Given the description of an element on the screen output the (x, y) to click on. 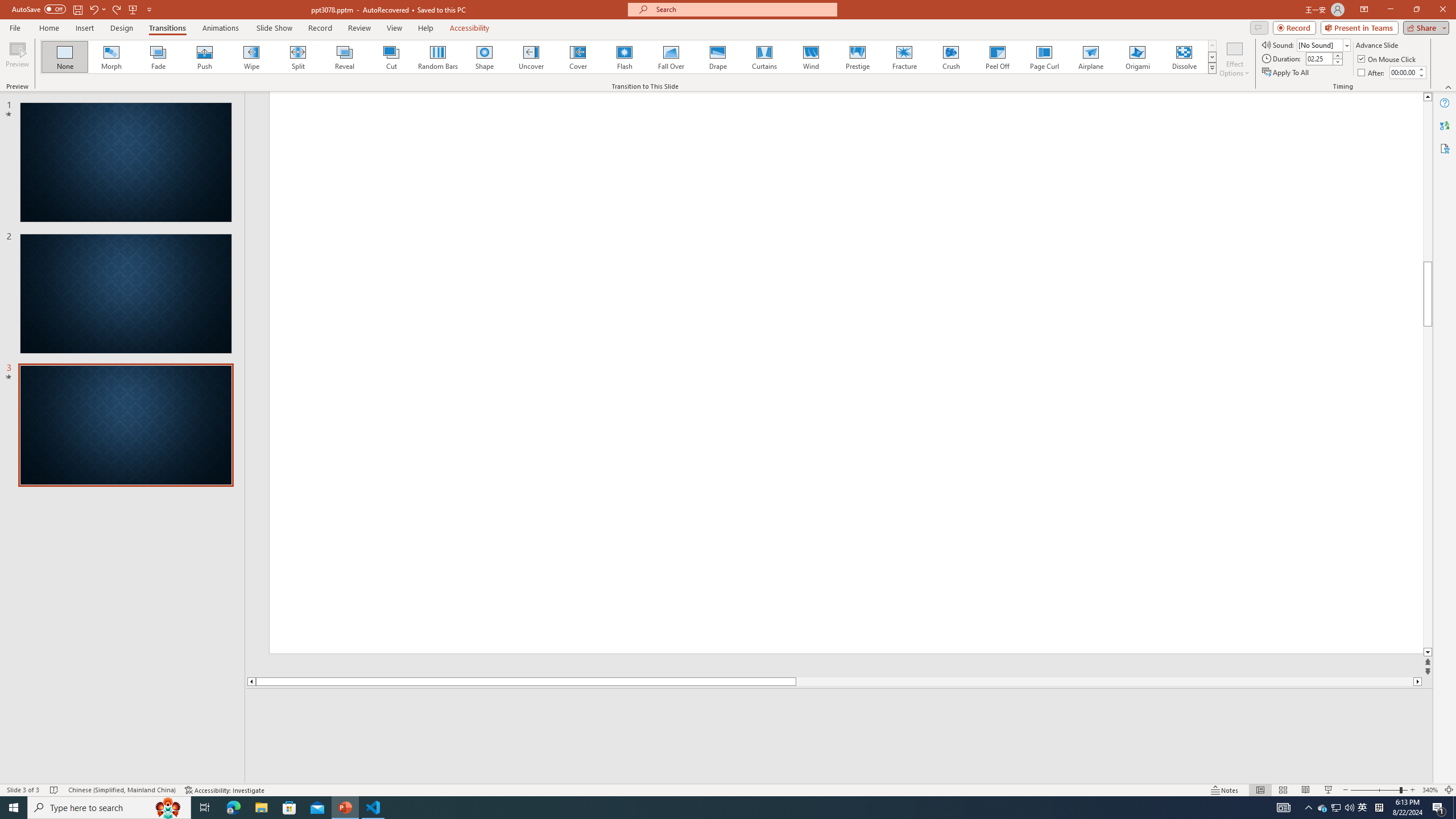
Origami (1136, 56)
Curtains (764, 56)
More (1420, 69)
Random Bars (437, 56)
